Given the description of an element on the screen output the (x, y) to click on. 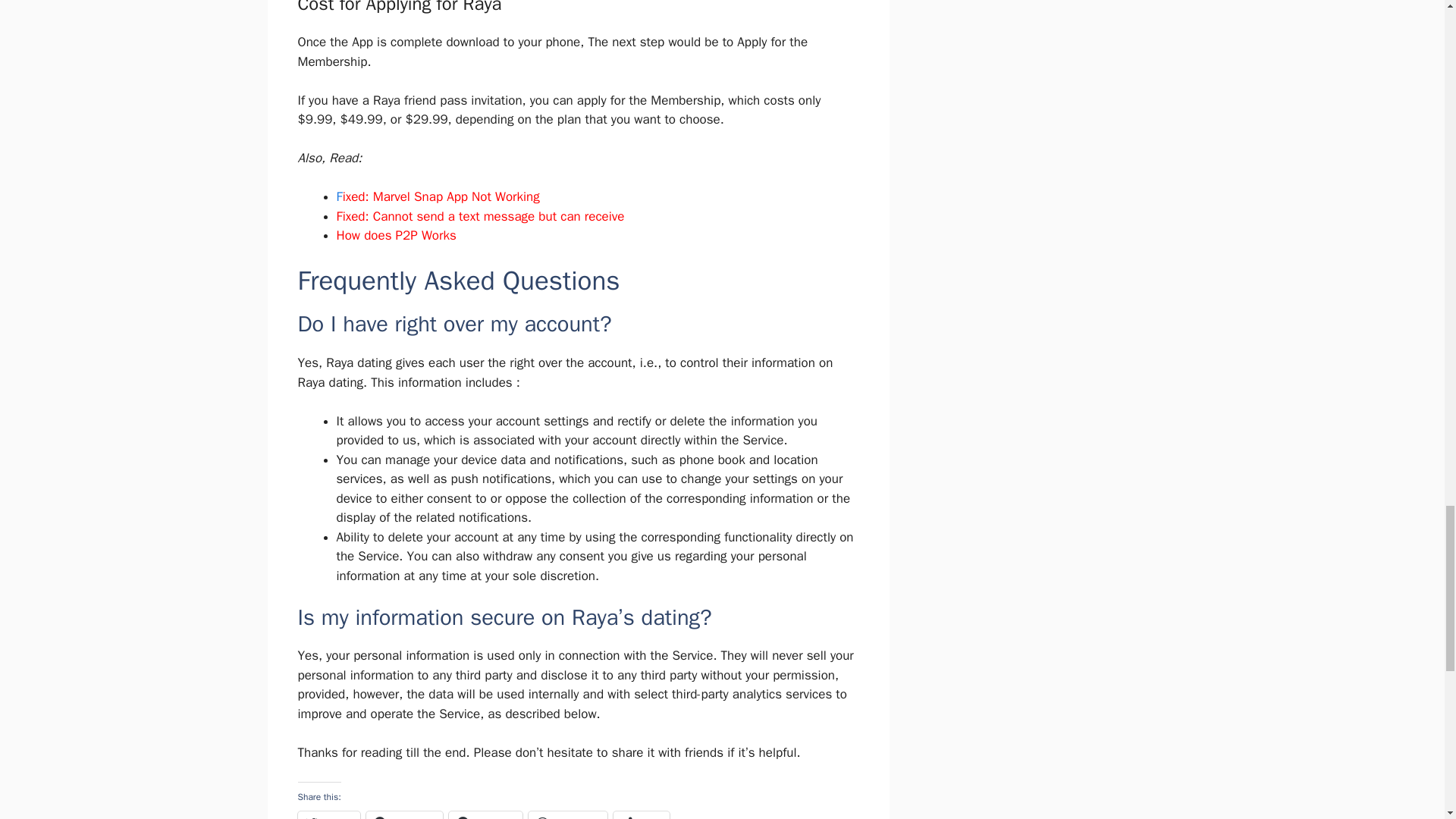
Facebook (404, 815)
Twitter (328, 815)
Click to share on Twitter (328, 815)
Click to share on Facebook (404, 815)
WhatsApp (567, 815)
Click to share on Telegram (485, 815)
Fixed: Marvel Snap App Not Working (438, 196)
Fixed: Cannot send a text message but can receive (480, 216)
More (640, 815)
How does P2P Works (396, 235)
Telegram (485, 815)
